Given the description of an element on the screen output the (x, y) to click on. 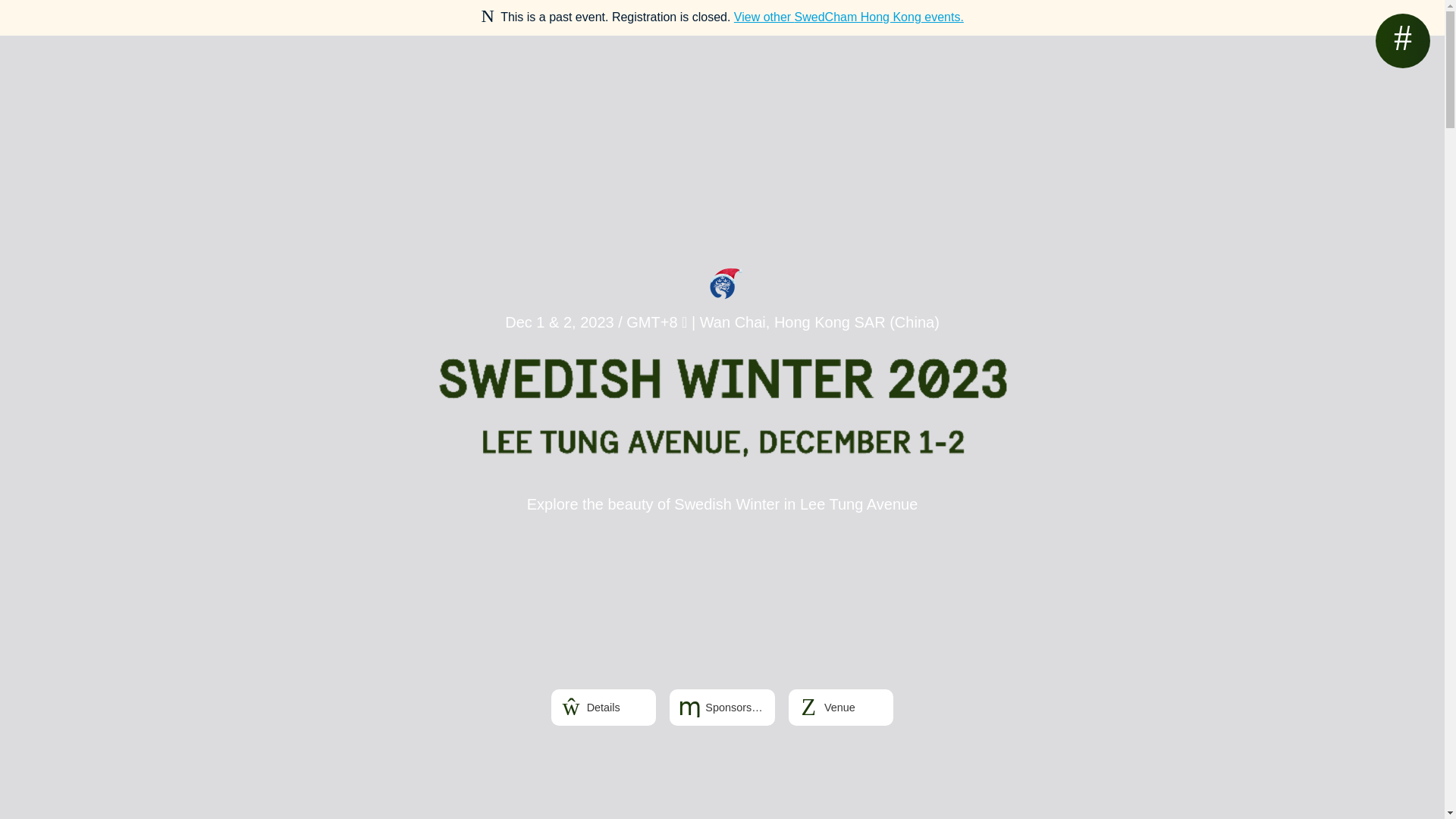
View other SwedCham Hong Kong events. (848, 16)
Details (603, 707)
Venue (841, 707)
